Given the description of an element on the screen output the (x, y) to click on. 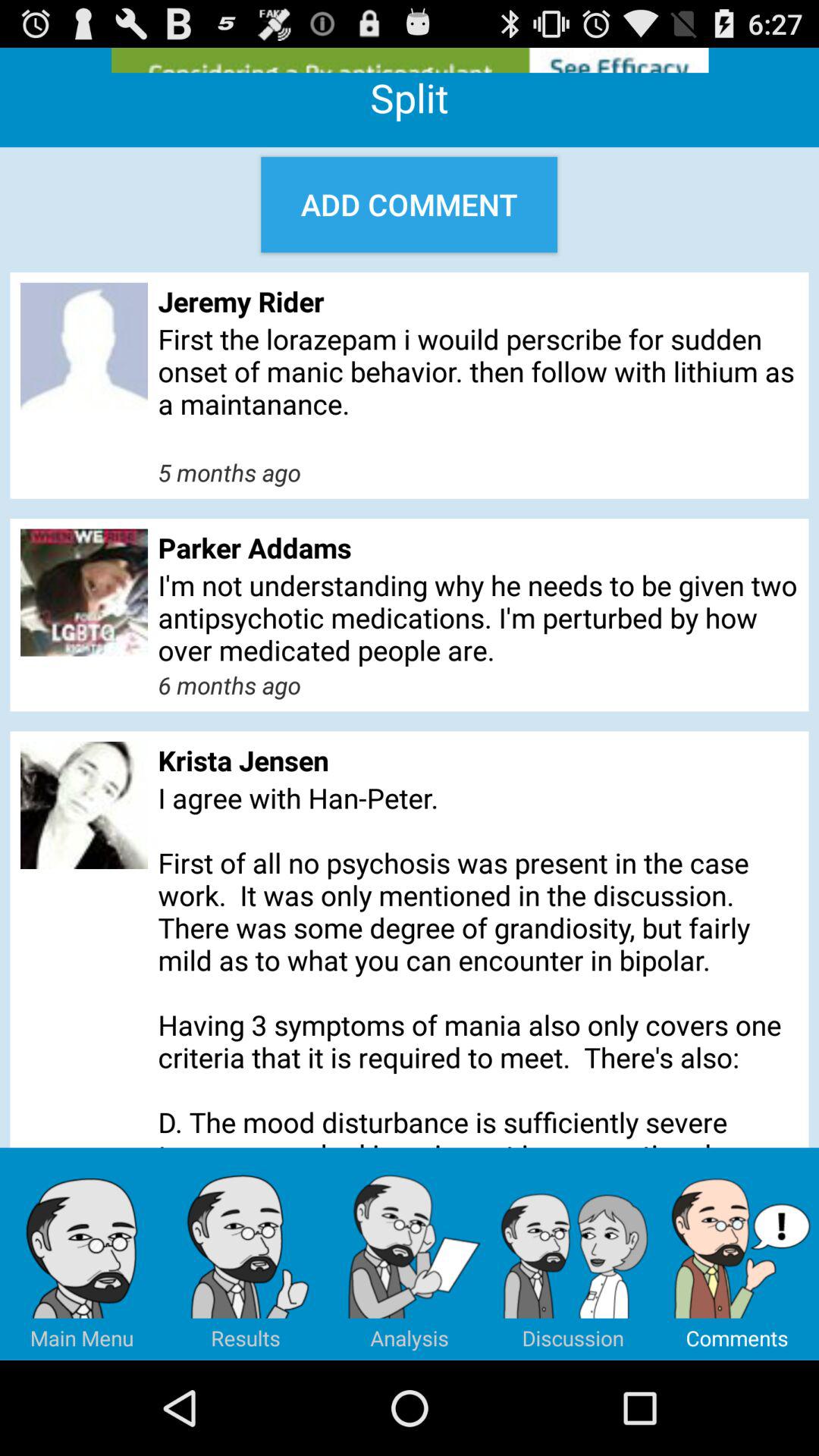
turn off item above the add comment (409, 59)
